Given the description of an element on the screen output the (x, y) to click on. 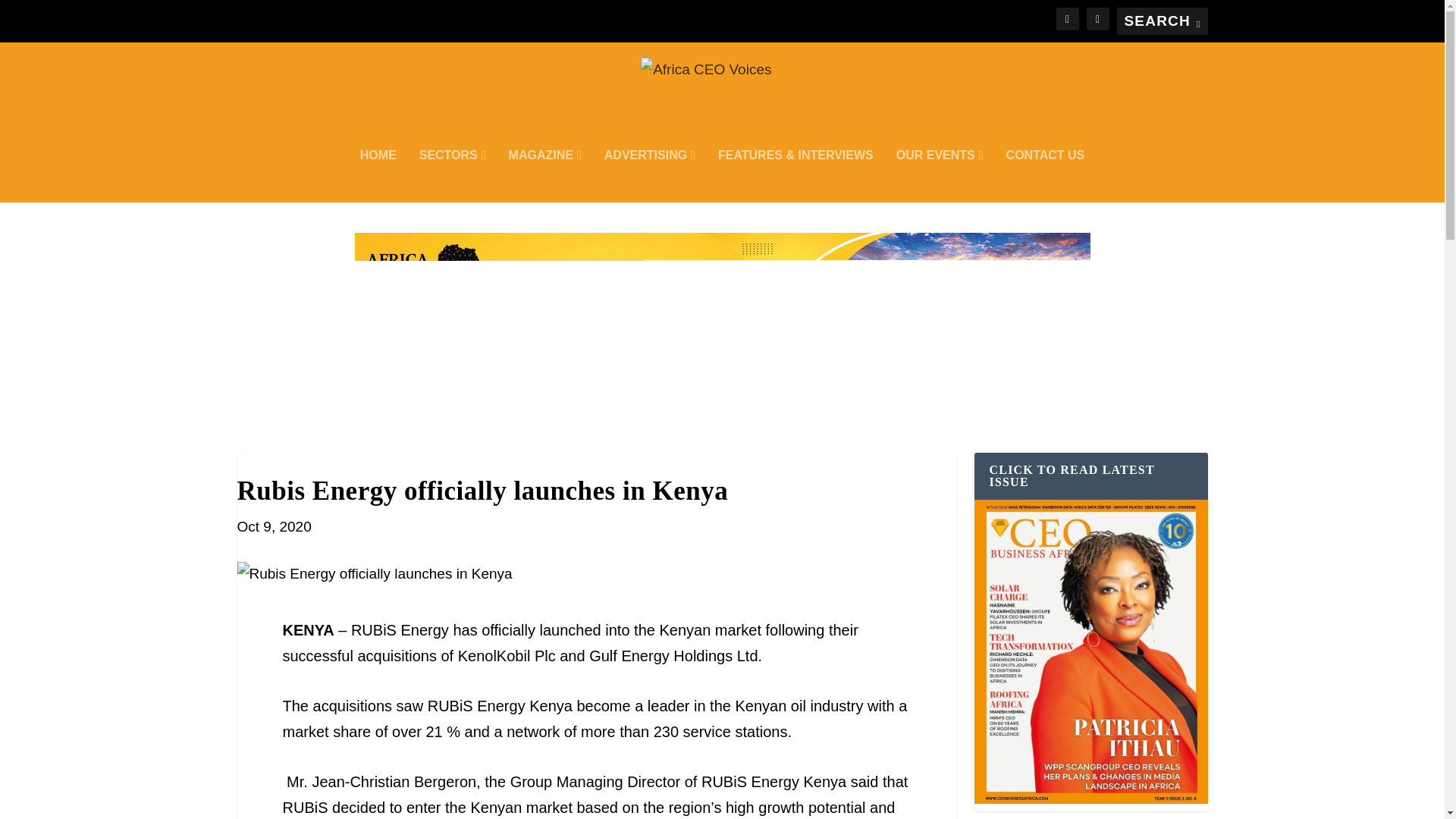
Search for: (1161, 21)
ADVERTISING (649, 175)
OUR EVENTS (940, 175)
CONTACT US (1045, 175)
SECTORS (452, 175)
MAGAZINE (544, 175)
